Given the description of an element on the screen output the (x, y) to click on. 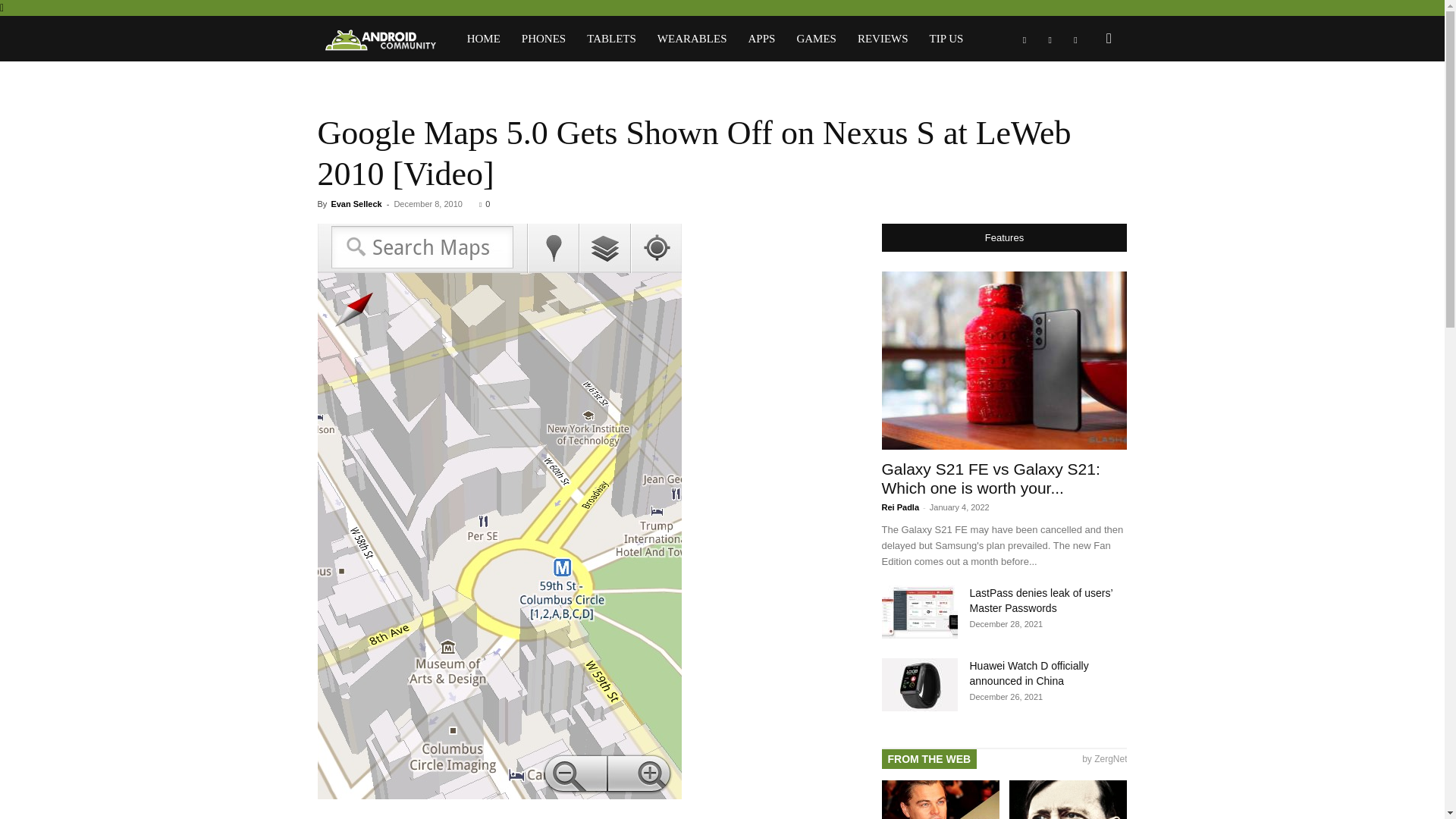
PHONES (543, 38)
Android Community (386, 38)
0 (484, 203)
Search (1085, 103)
REVIEWS (882, 38)
WEARABLES (692, 38)
TIP US (946, 38)
Android Community (379, 39)
GAMES (816, 38)
Evan Selleck (355, 203)
TABLETS (611, 38)
HOME (484, 38)
Galaxy S21 FE vs Galaxy S21: Which one is worth your money (1003, 360)
APPS (762, 38)
